Given the description of an element on the screen output the (x, y) to click on. 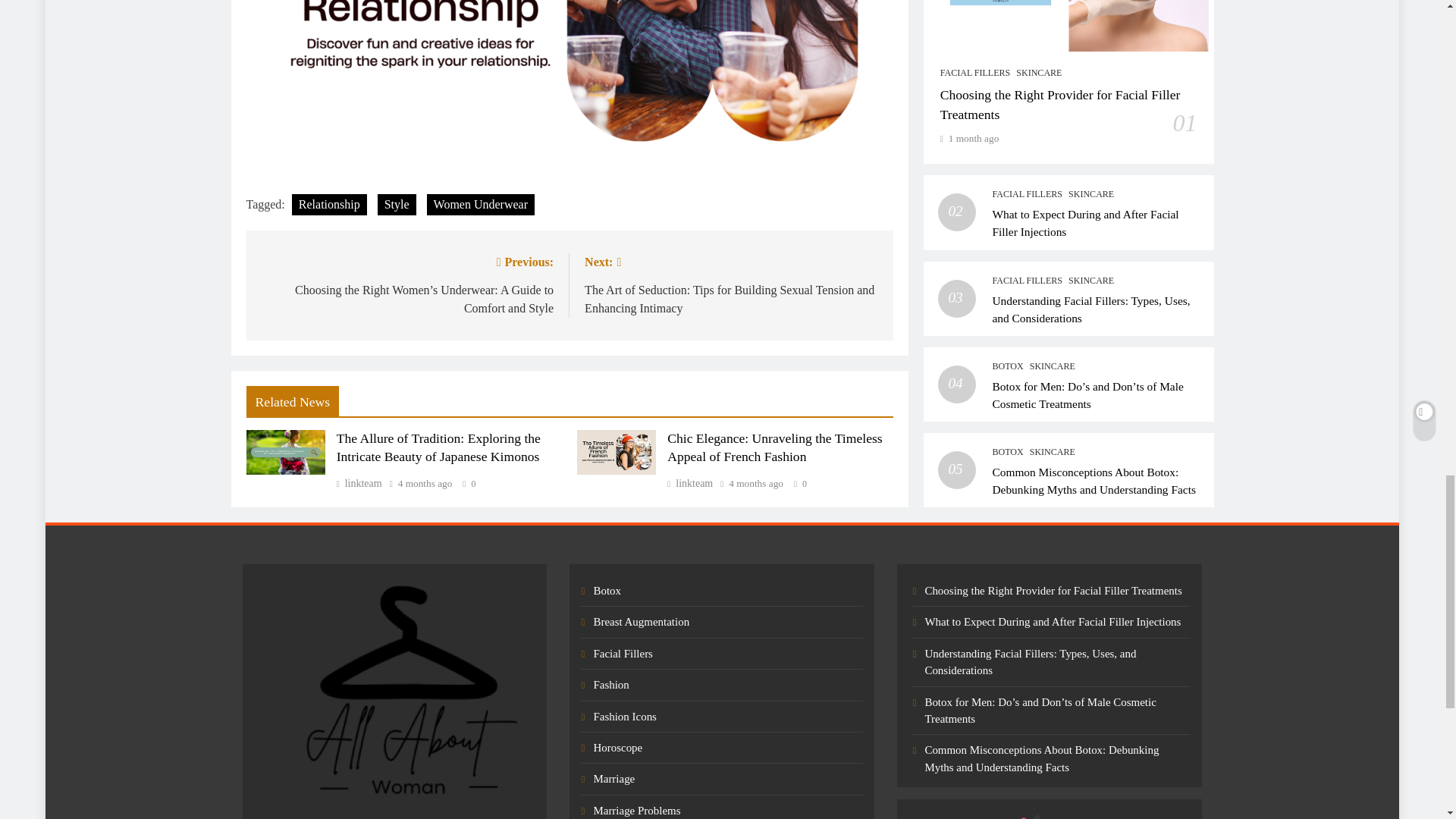
4 months ago (424, 483)
Relationship (329, 204)
Women Underwear (480, 204)
Style (396, 204)
4 months ago (756, 483)
linkteam (689, 482)
linkteam (358, 482)
